Given the description of an element on the screen output the (x, y) to click on. 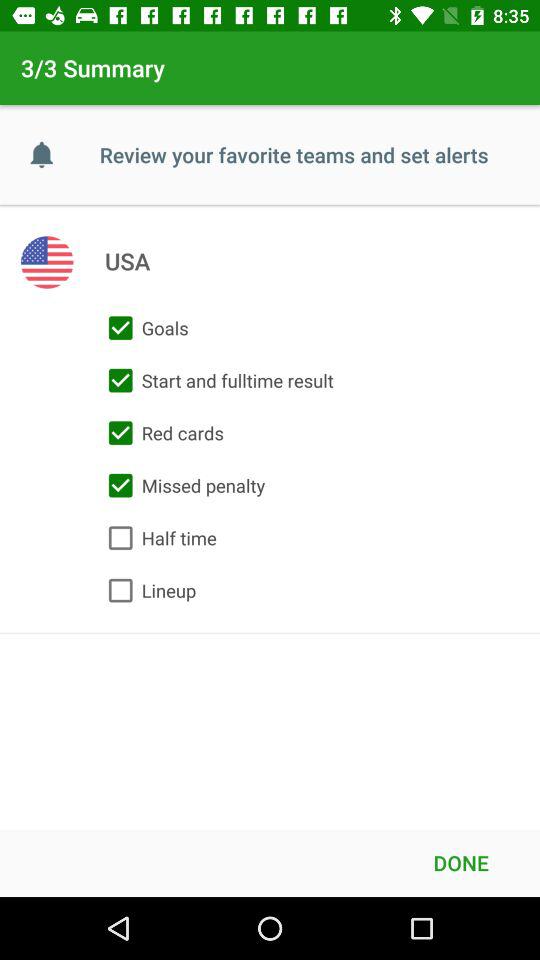
swipe to the missed penalty icon (182, 485)
